Given the description of an element on the screen output the (x, y) to click on. 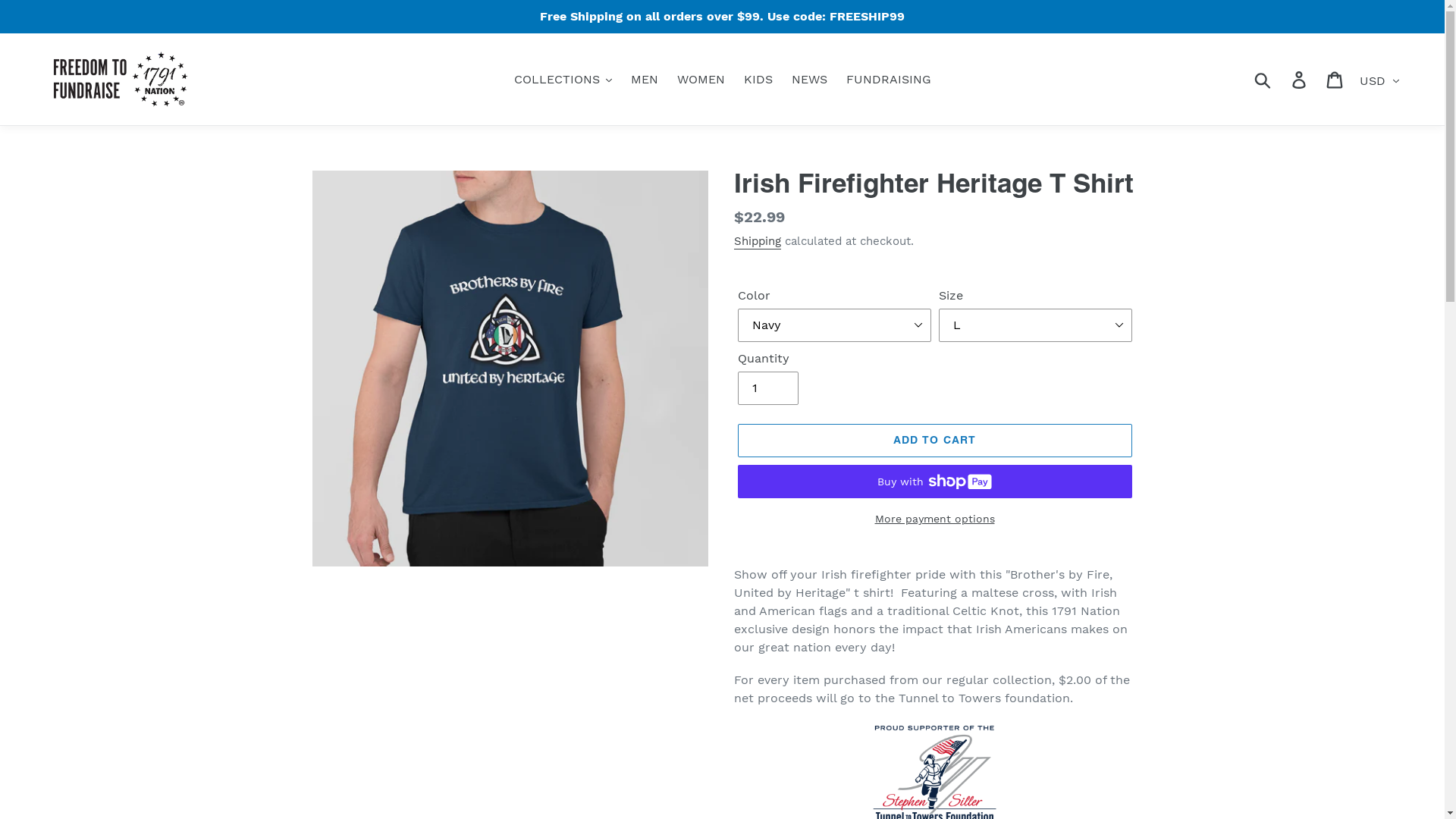
More payment options Element type: text (934, 518)
FUNDRAISING Element type: text (888, 79)
KIDS Element type: text (757, 79)
Cart Element type: text (1335, 79)
MEN Element type: text (644, 79)
WOMEN Element type: text (699, 79)
Shipping Element type: text (757, 241)
Log in Element type: text (1299, 79)
ADD TO CART Element type: text (934, 440)
Submit Element type: text (1263, 78)
NEWS Element type: text (809, 79)
